Given the description of an element on the screen output the (x, y) to click on. 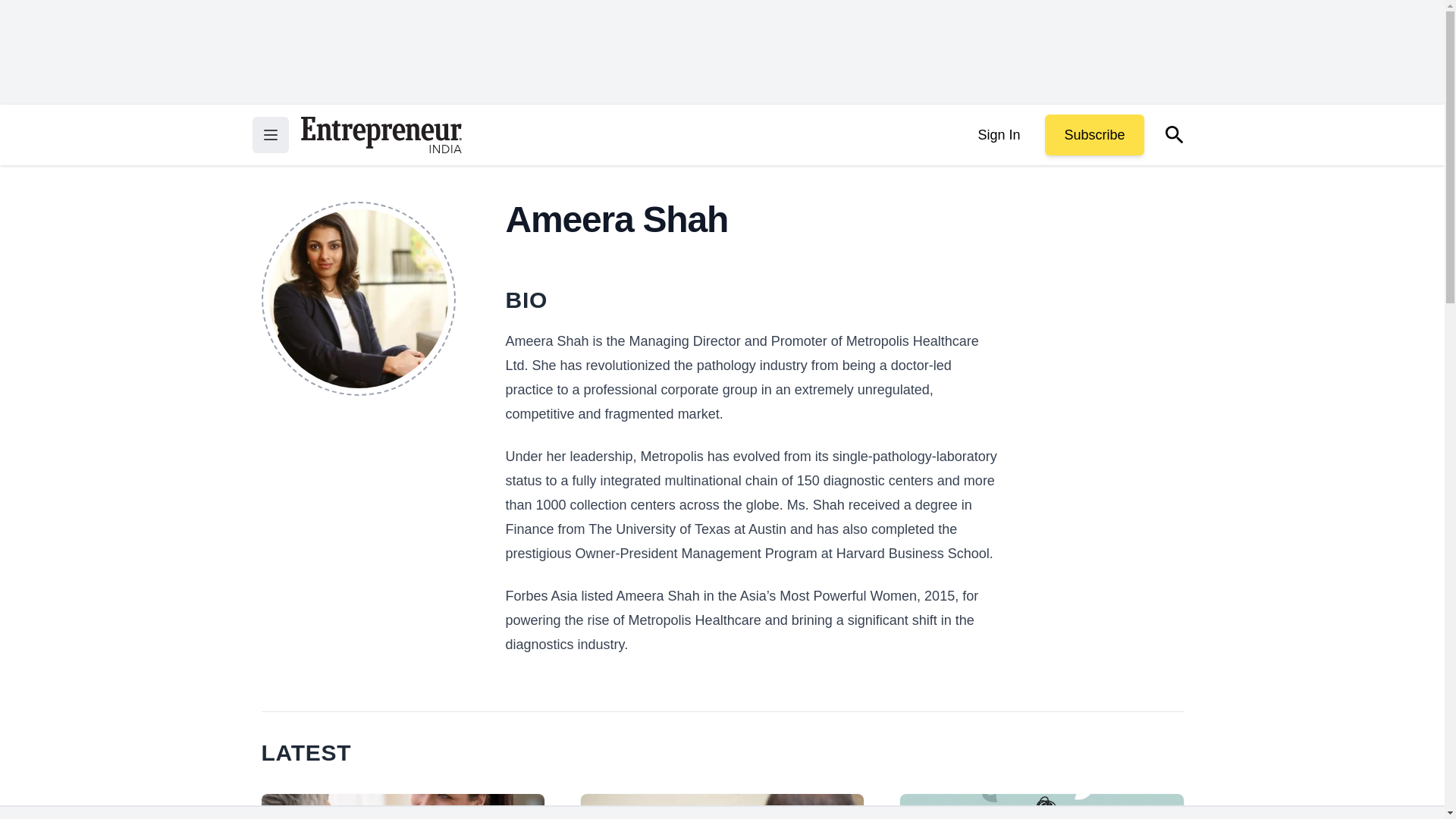
Subscribe (1093, 134)
Sign In (998, 134)
Return to the home page (380, 135)
